Given the description of an element on the screen output the (x, y) to click on. 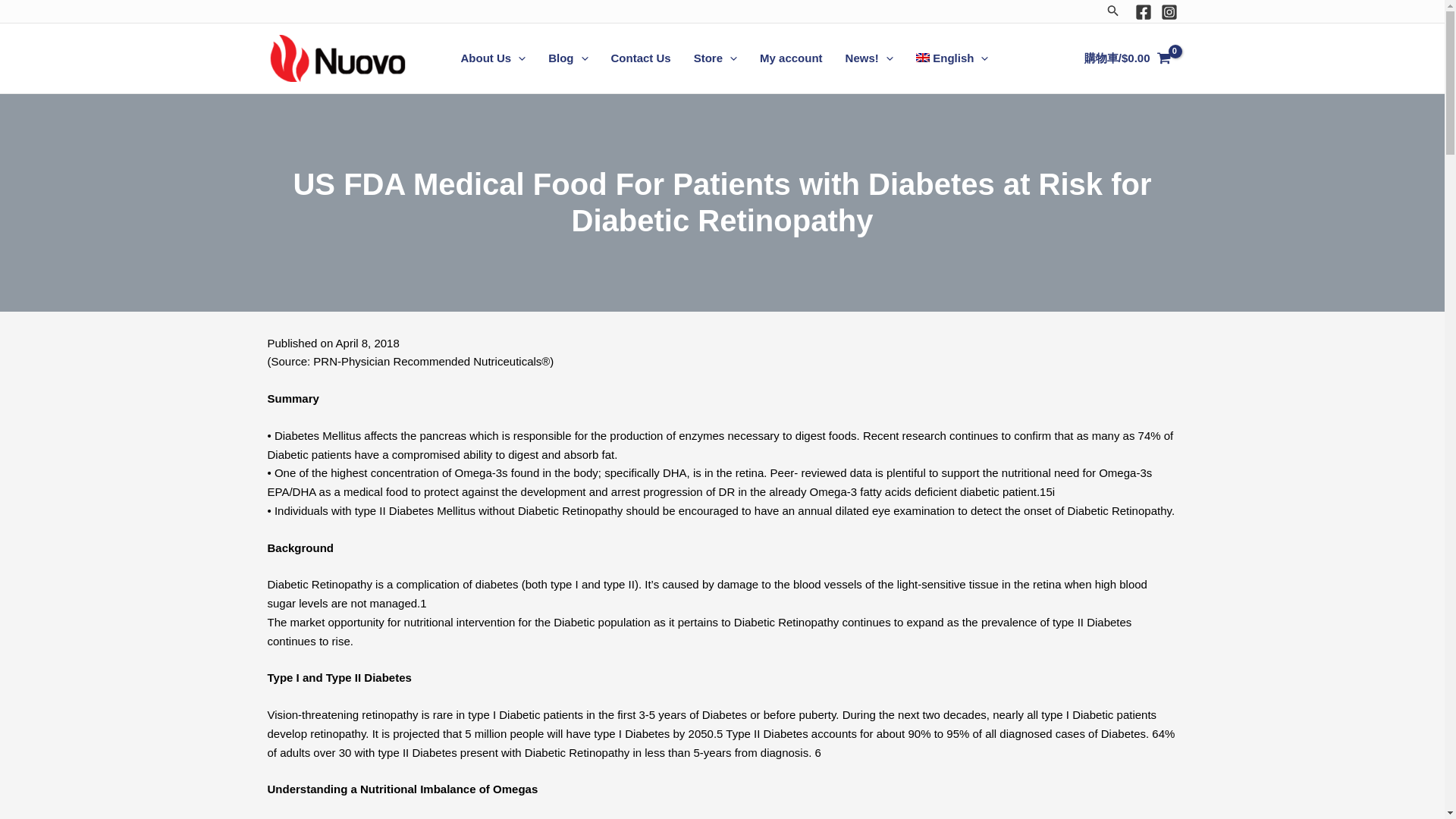
Eyecare (715, 57)
Contact Us (639, 57)
About Us (492, 57)
English (952, 57)
Blog (567, 57)
Store (715, 57)
